Given the description of an element on the screen output the (x, y) to click on. 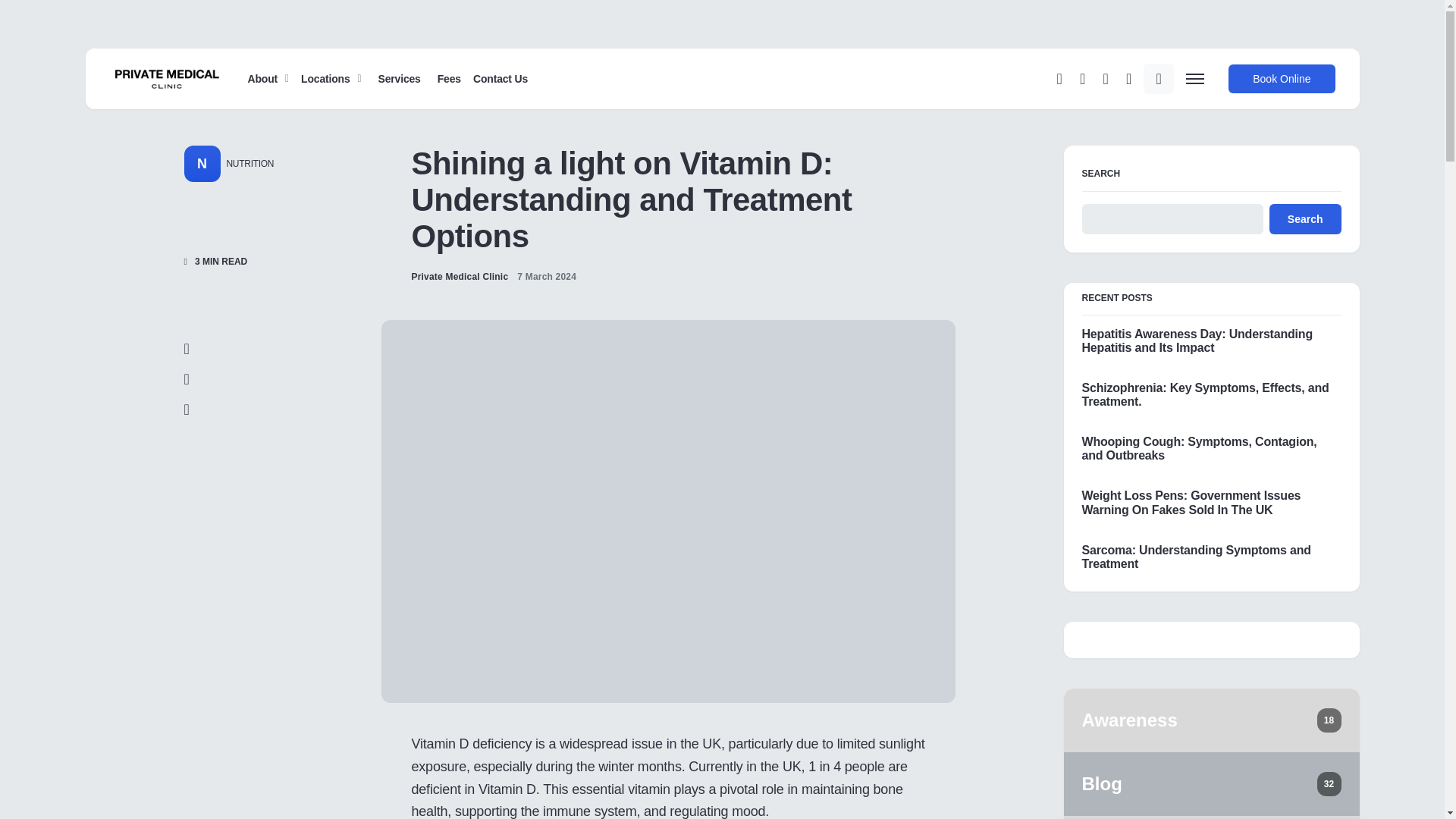
View all posts by Private Medical Clinic (459, 276)
